Given the description of an element on the screen output the (x, y) to click on. 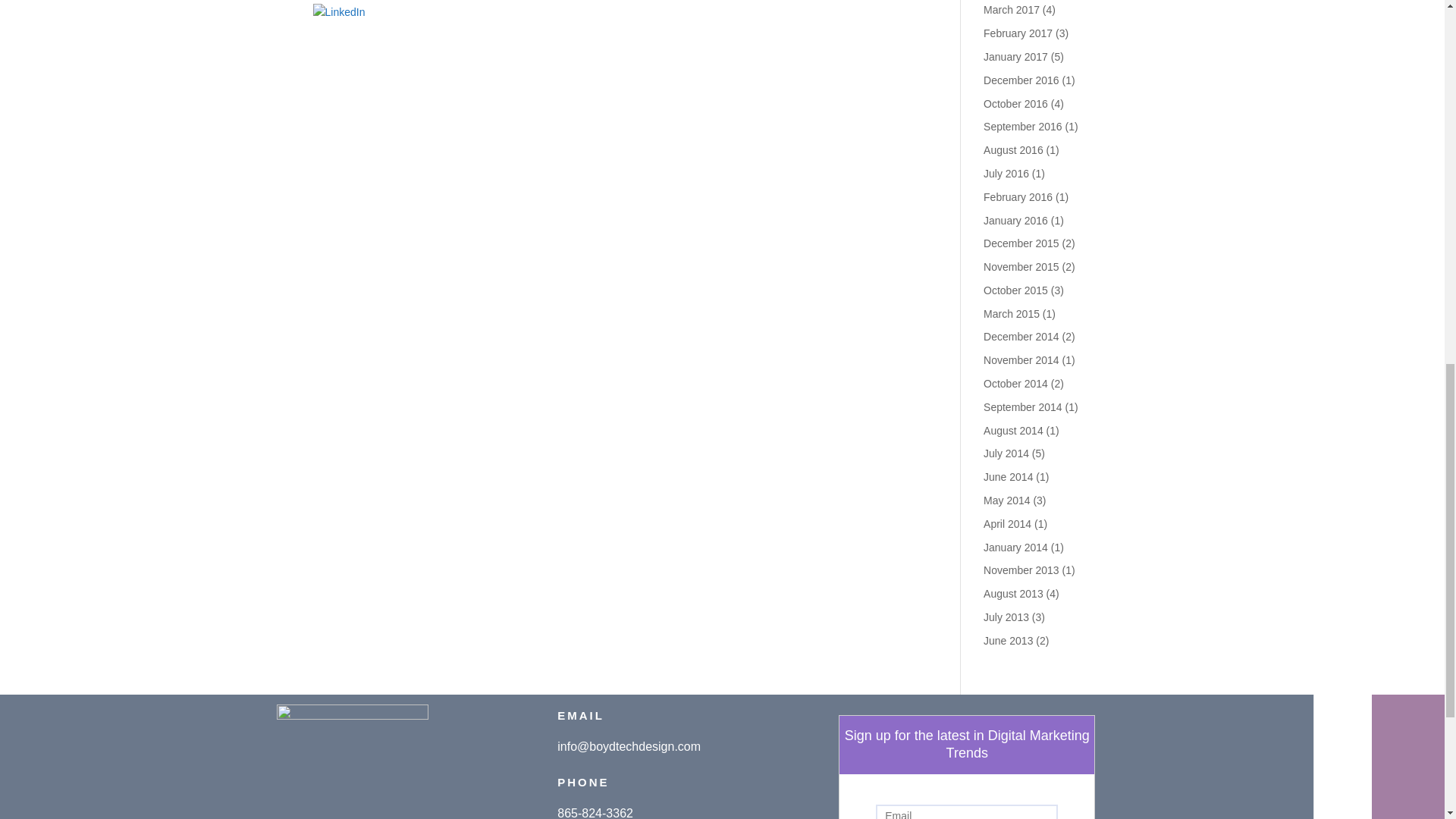
February 2017 (1018, 33)
March 2017 (1011, 9)
January 2017 (1016, 56)
BTD-Square-Logo (352, 761)
